Given the description of an element on the screen output the (x, y) to click on. 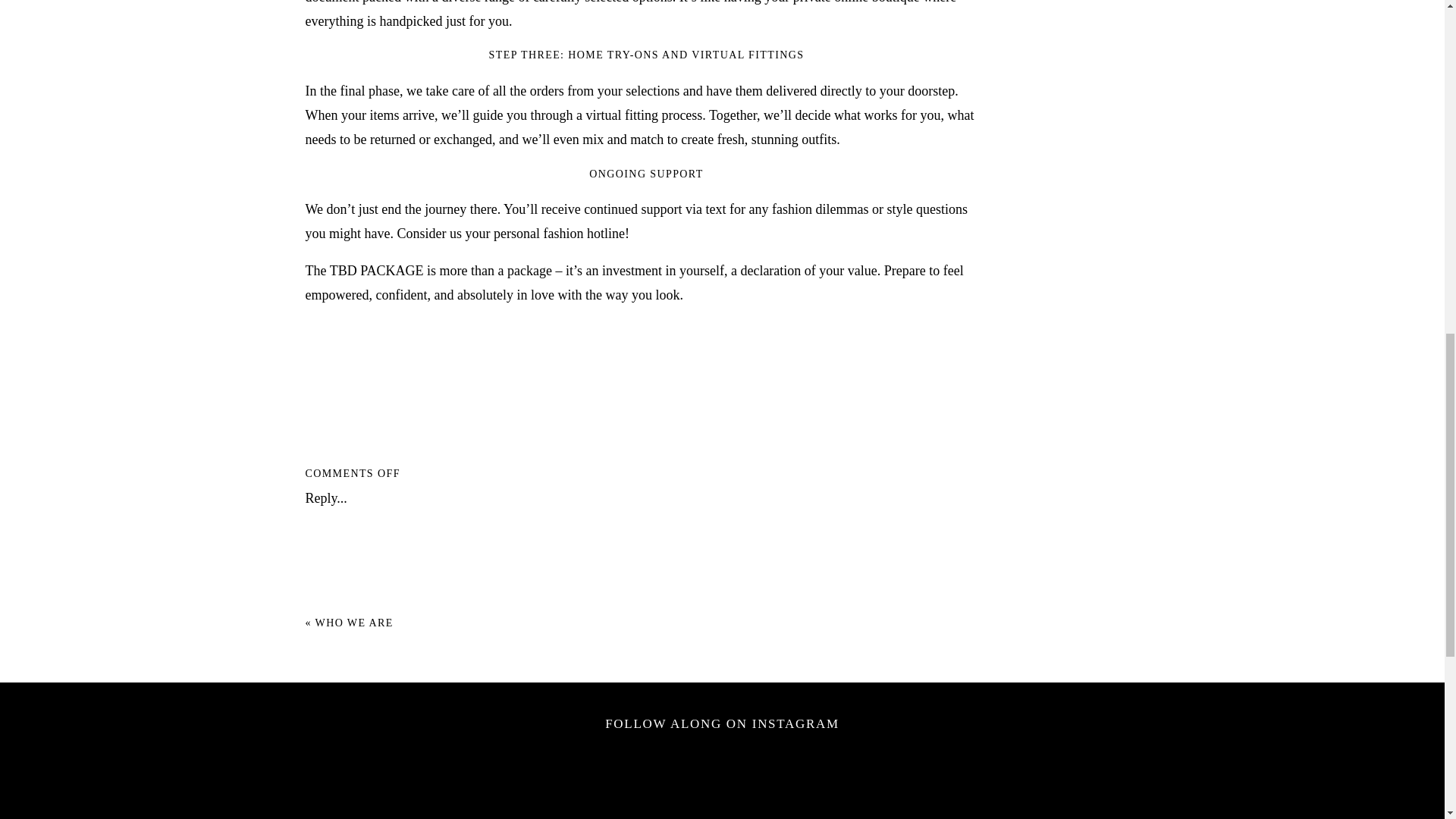
WHO WE ARE (354, 622)
